Given the description of an element on the screen output the (x, y) to click on. 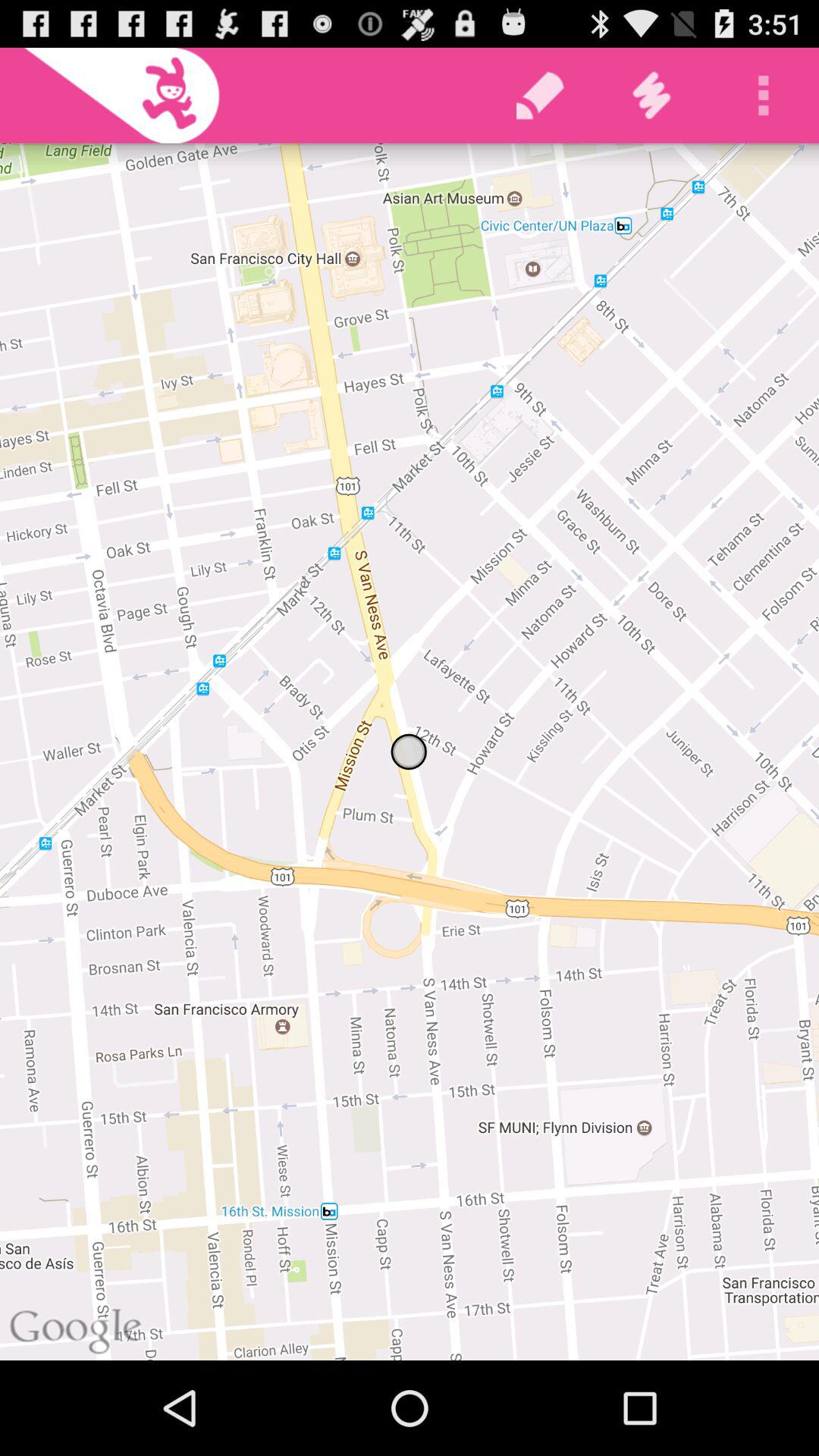
turn on the icon at the top (540, 95)
